Given the description of an element on the screen output the (x, y) to click on. 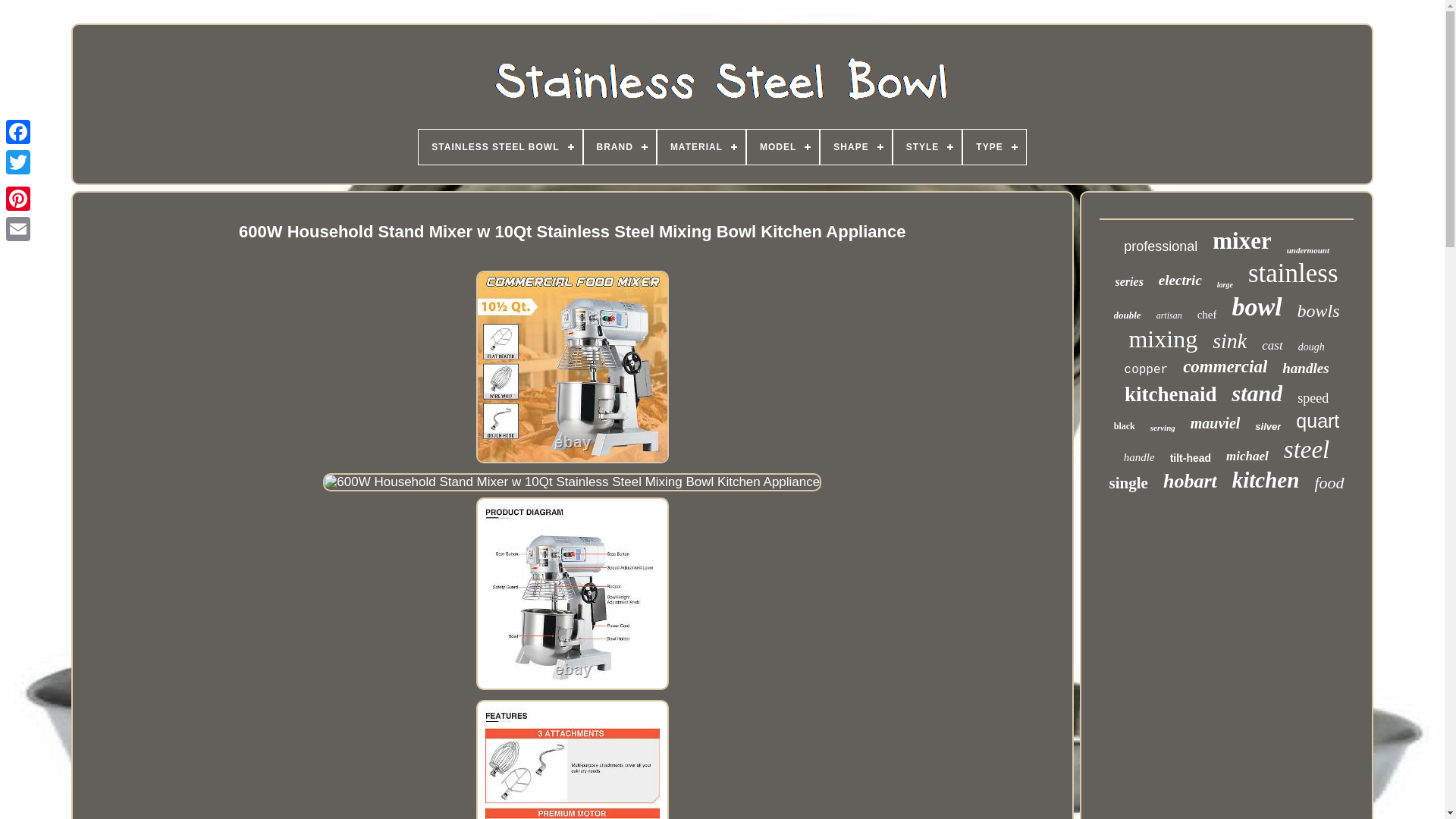
STAINLESS STEEL BOWL (499, 146)
BRAND (619, 146)
MATERIAL (701, 146)
Twitter (17, 162)
